Given the description of an element on the screen output the (x, y) to click on. 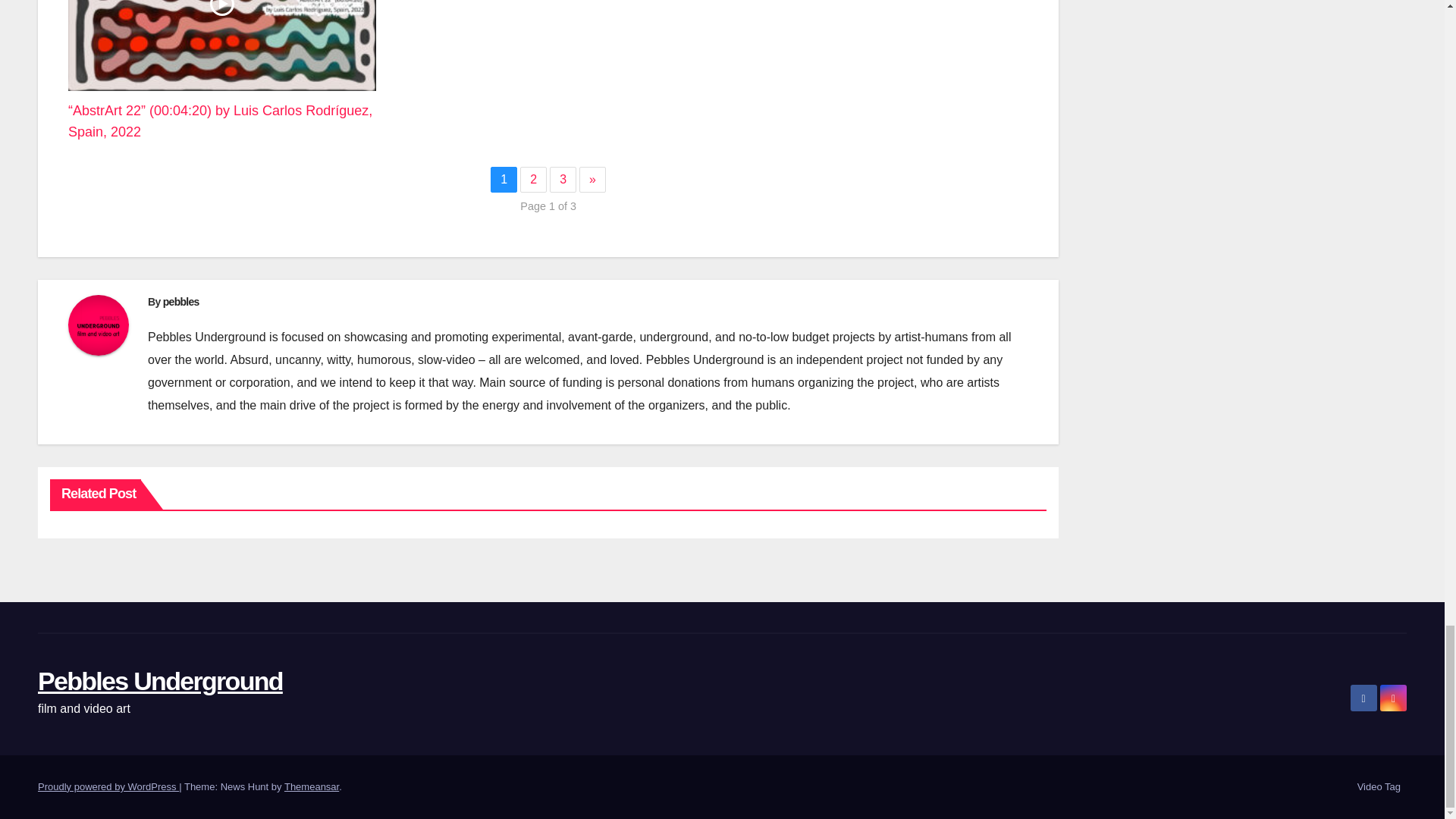
Video Tag (1378, 786)
